Given the description of an element on the screen output the (x, y) to click on. 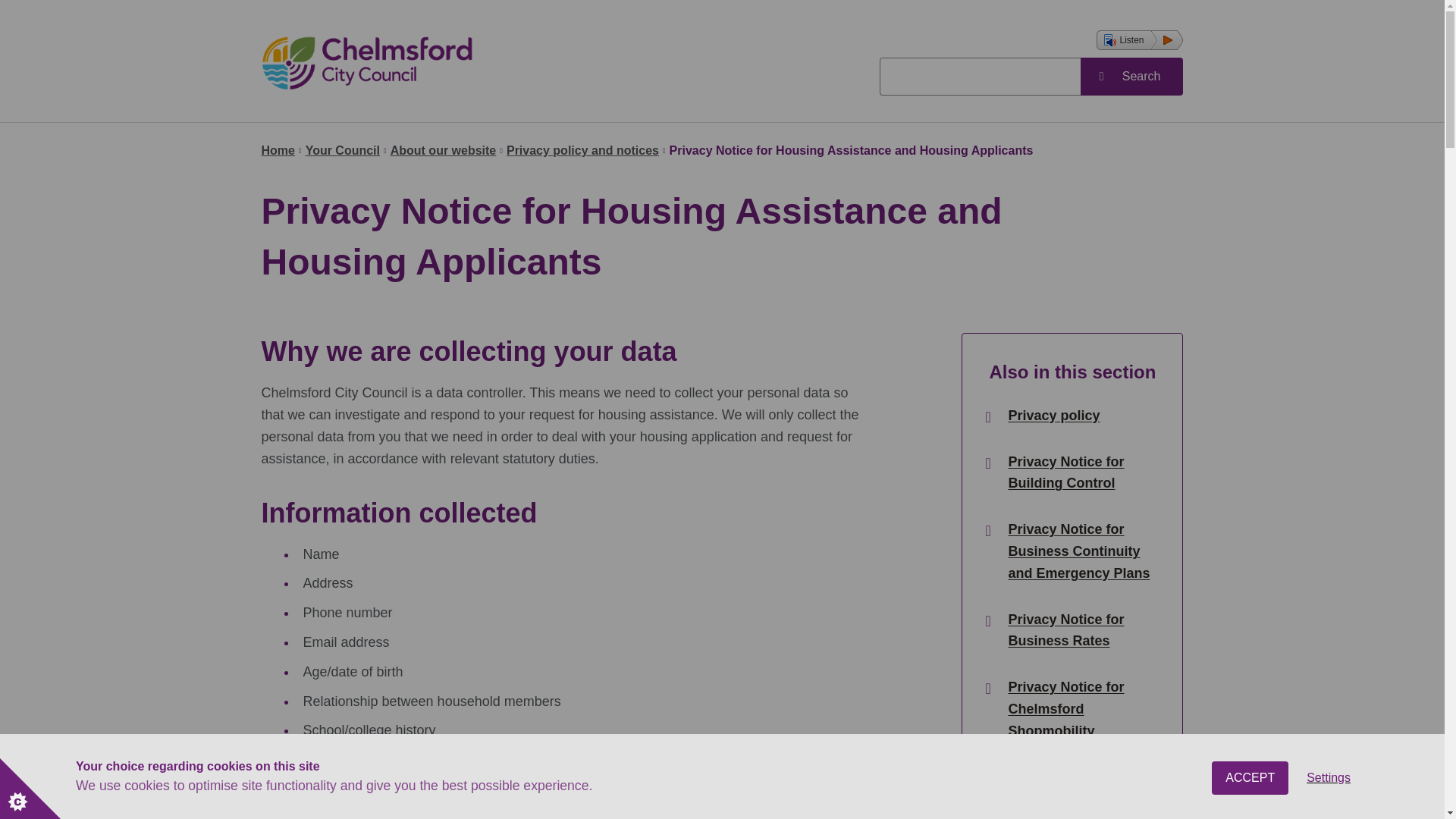
Privacy Notice for Comments, Compliments and Complaints (1081, 792)
Listen to this page using ReadSpeaker (1139, 39)
About our website (443, 150)
Listen (1139, 39)
Privacy Notice for Business Rates (1081, 630)
Privacy Notice for Chelmsford Shopmobility (1081, 709)
Privacy policy (1053, 415)
Privacy Notice for Building Control (1081, 473)
Home (277, 150)
Search (1131, 76)
